Given the description of an element on the screen output the (x, y) to click on. 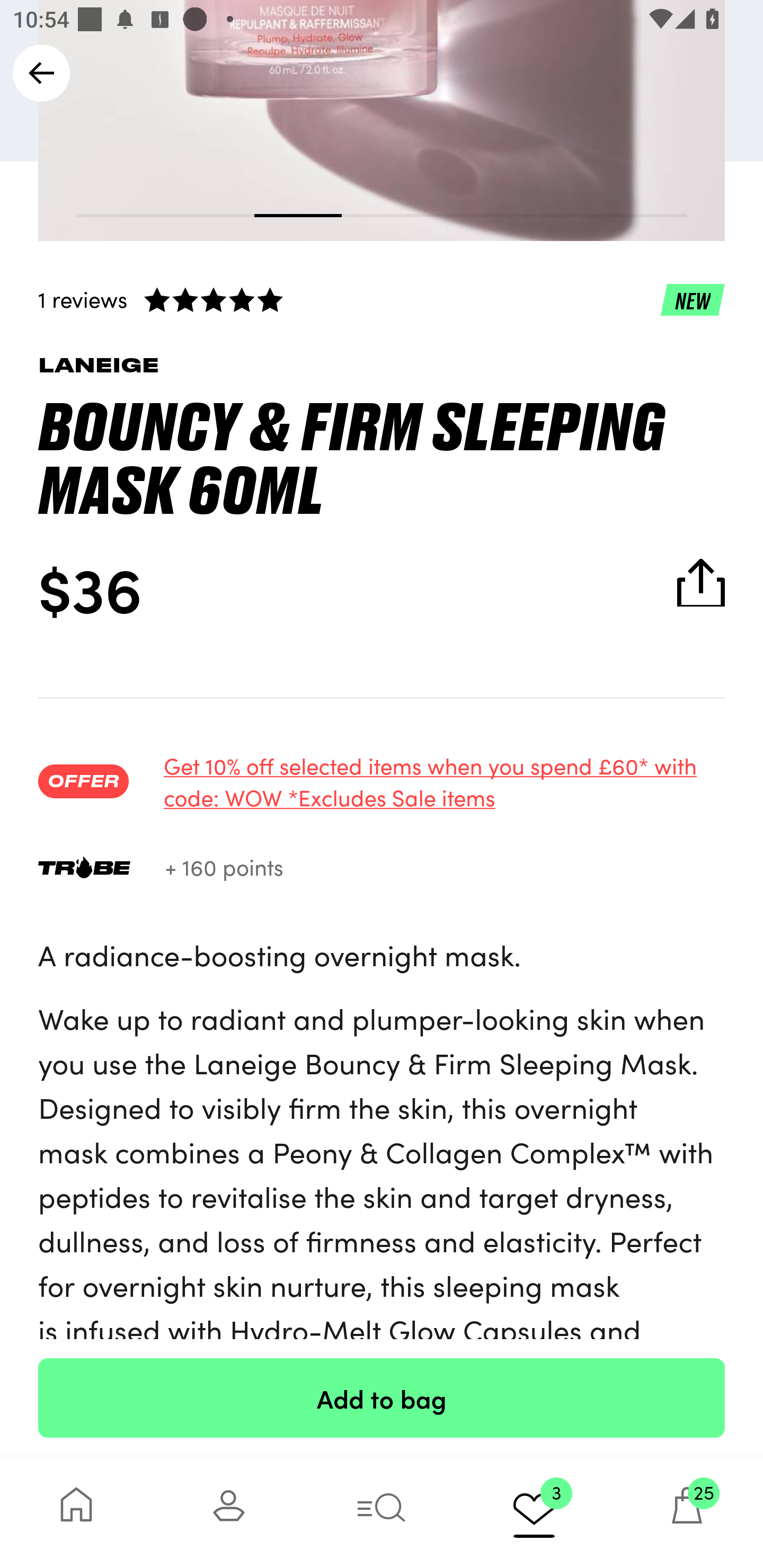
1 reviews (381, 298)
Add to bag (381, 1397)
3 (533, 1512)
25 (686, 1512)
